Given the description of an element on the screen output the (x, y) to click on. 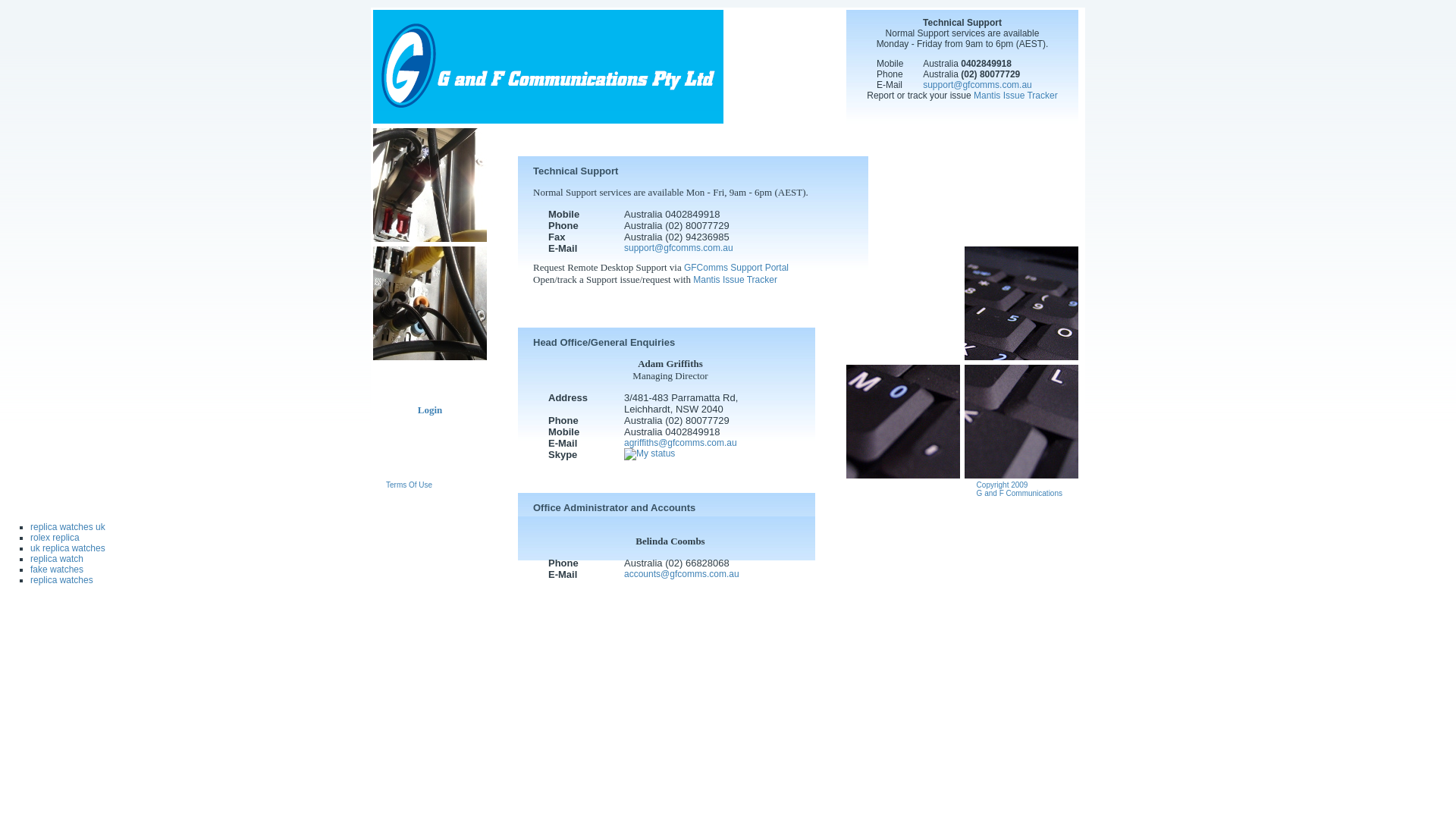
replica watches Element type: text (61, 579)
fake watches Element type: text (56, 569)
support@gfcomms.com.au Element type: text (977, 84)
GFComms Support Portal Element type: text (736, 267)
Mantis Issue Tracker Element type: text (1015, 95)
replica watches uk Element type: text (67, 526)
Terms Of Use Element type: text (408, 484)
replica watch Element type: text (56, 558)
uk replica watches Element type: text (67, 547)
Mantis Issue Tracker Element type: text (735, 279)
rolex replica Element type: text (54, 537)
support@gfcomms.com.au Element type: text (678, 247)
Login Element type: text (429, 409)
G and F Communications Element type: hover (548, 120)
agriffiths@gfcomms.com.au Element type: text (680, 442)
accounts@gfcomms.com.au Element type: text (681, 573)
